Given the description of an element on the screen output the (x, y) to click on. 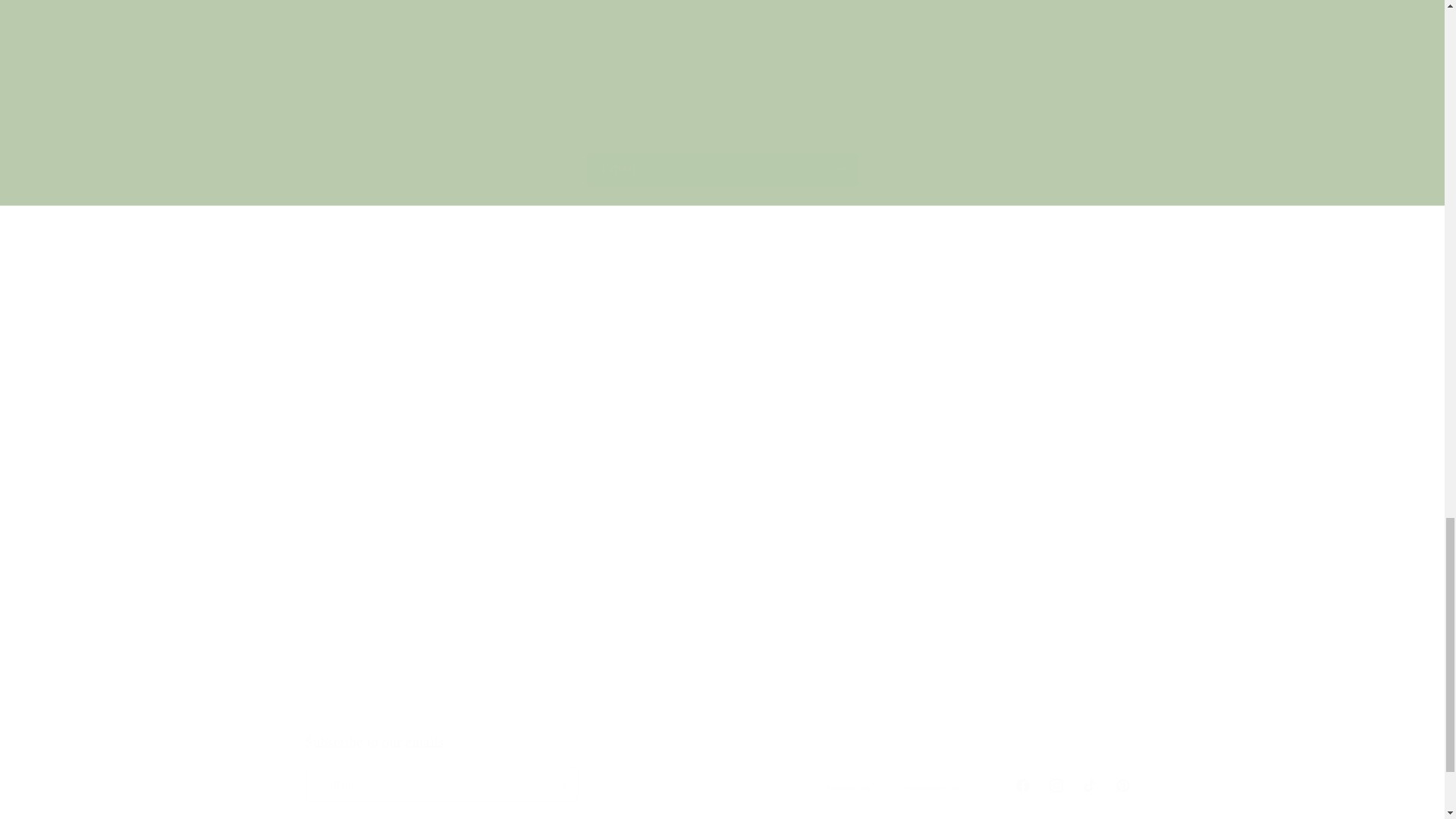
Email (1004, 627)
